Given the description of an element on the screen output the (x, y) to click on. 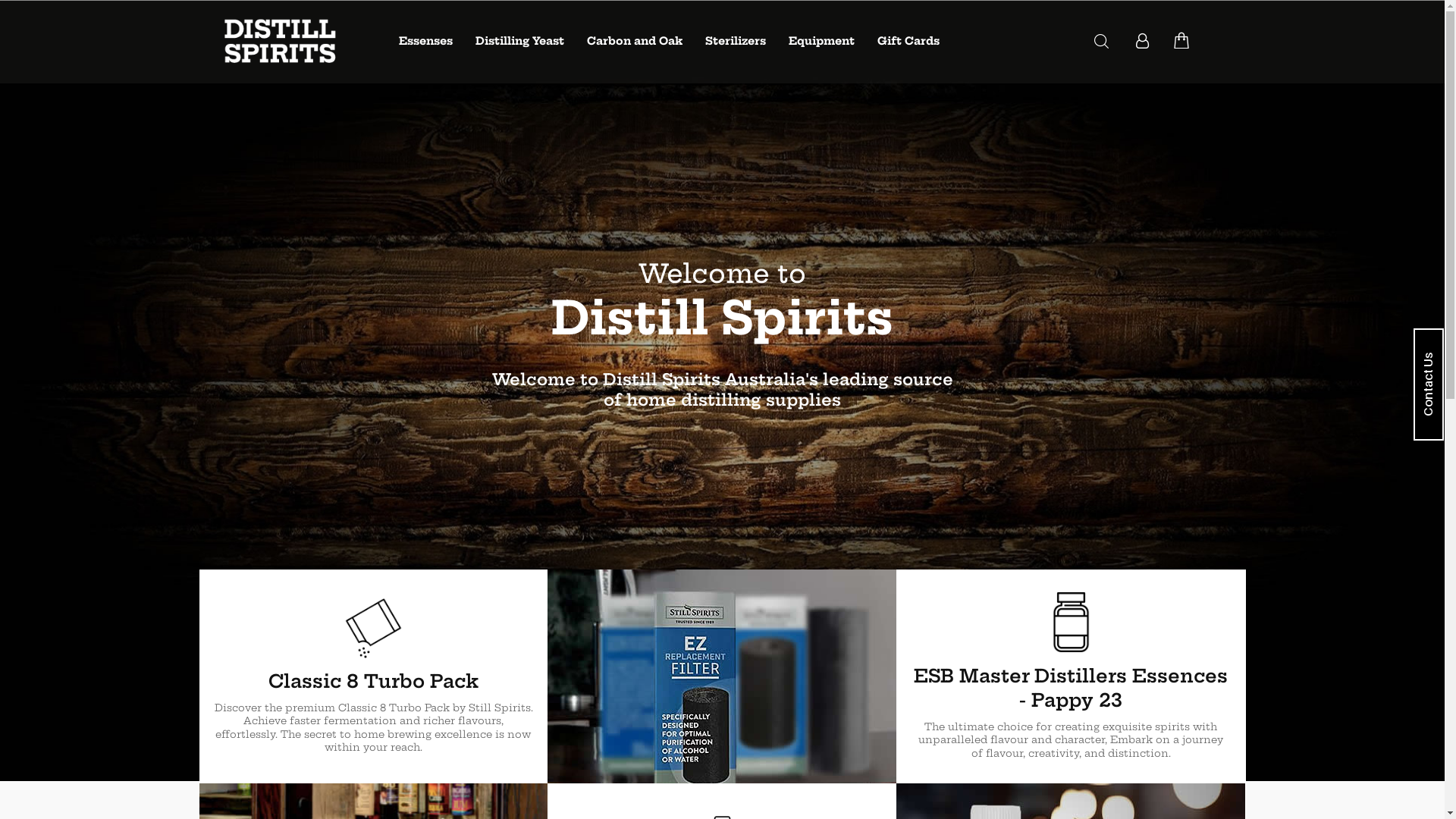
SEARCH Element type: text (1101, 41)
Distill Spirits Element type: hover (277, 41)
Essenses Element type: text (425, 41)
Image 01 Element type: hover (721, 676)
